Given the description of an element on the screen output the (x, y) to click on. 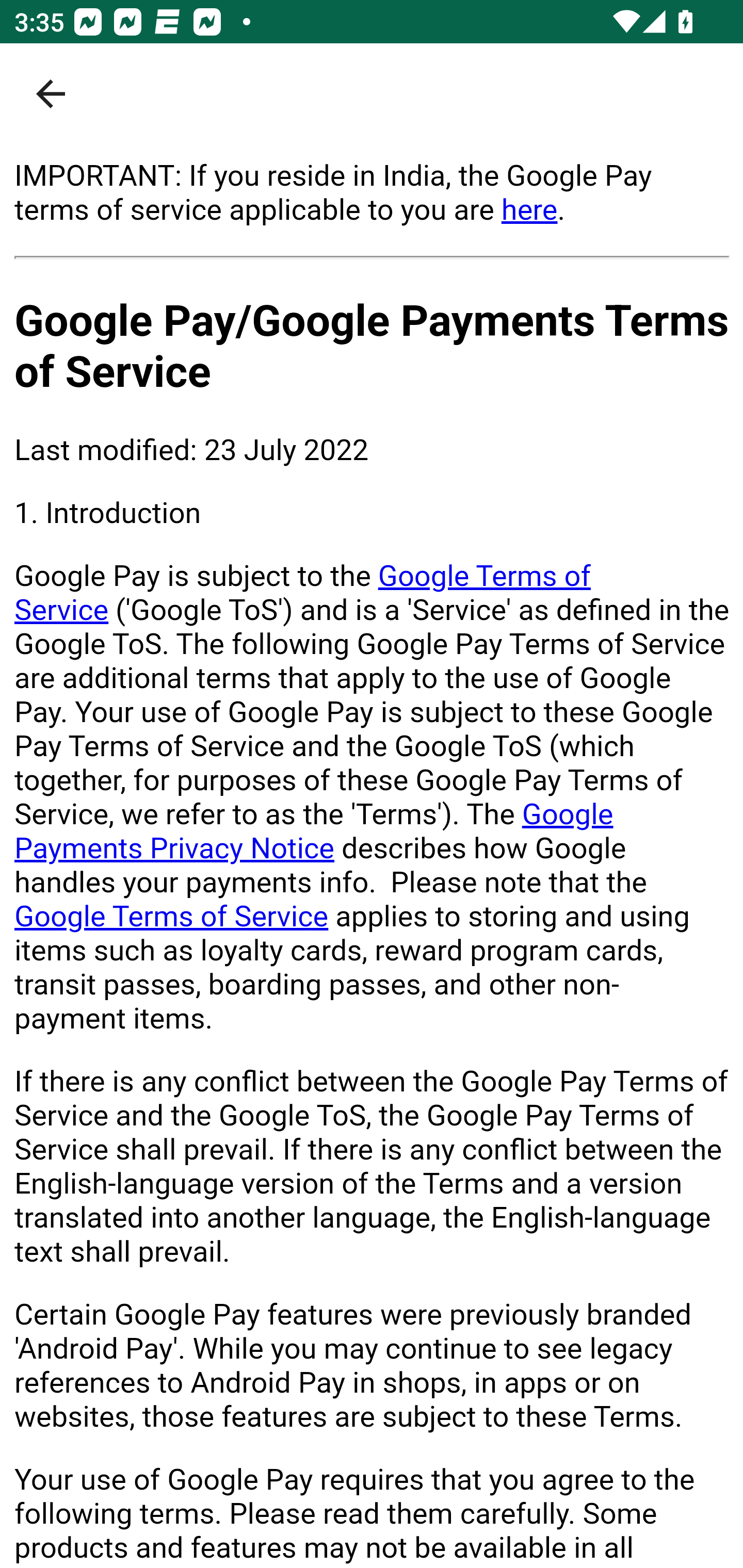
Navigate up (50, 93)
here (528, 209)
Google Terms of Service (303, 593)
Google Payments Privacy Notice (313, 831)
Google Terms of Service (171, 916)
